Given the description of an element on the screen output the (x, y) to click on. 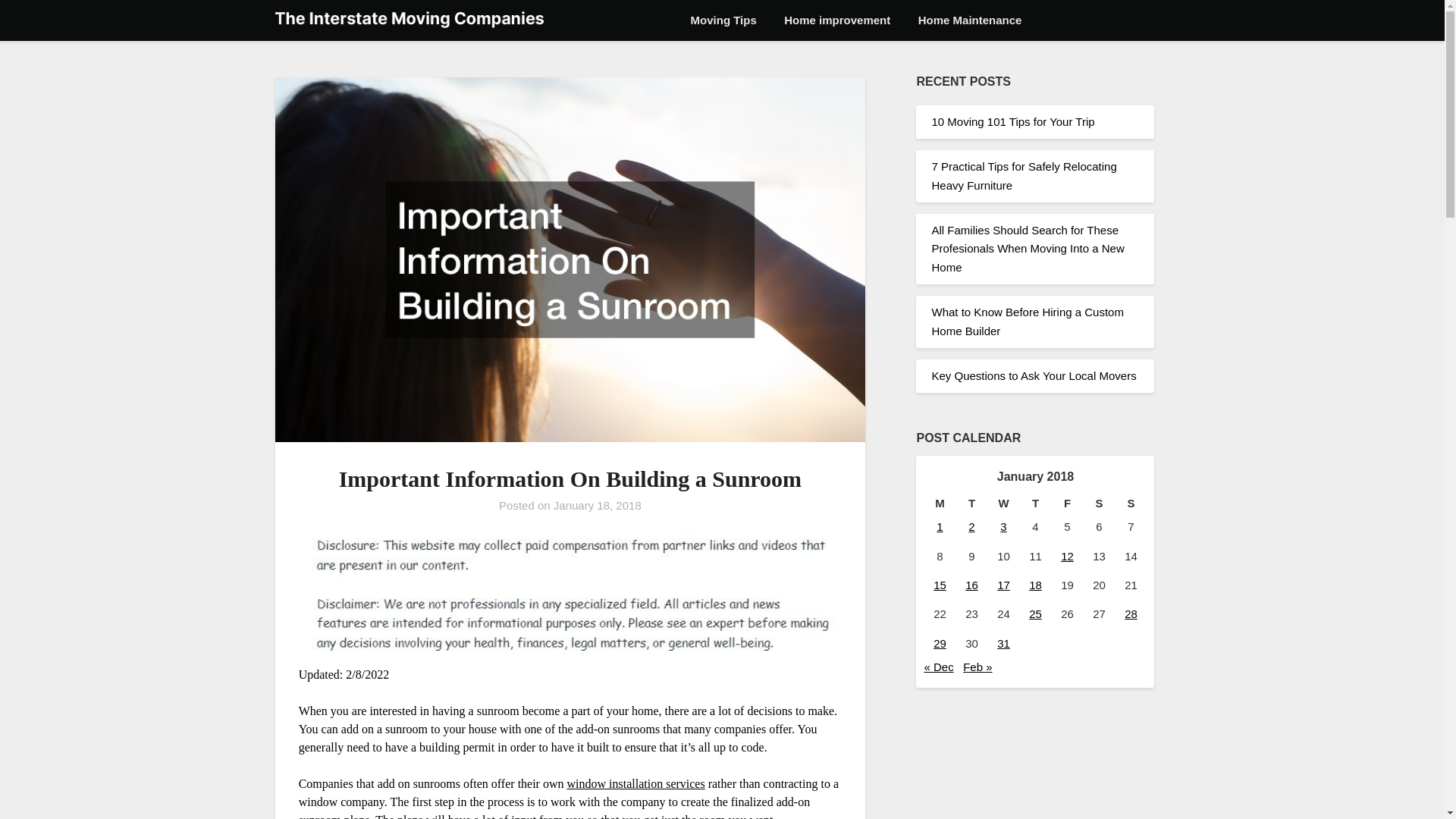
15 (939, 584)
Key Questions to Ask Your Local Movers (1033, 375)
Moving Tips (723, 20)
18 (1035, 584)
7 Practical Tips for Safely Relocating Heavy Furniture (1023, 174)
Wednesday (1003, 503)
What to Know Before Hiring a Custom Home Builder (1026, 320)
31 (1003, 643)
Sunday (1131, 503)
Friday (1067, 503)
